Given the description of an element on the screen output the (x, y) to click on. 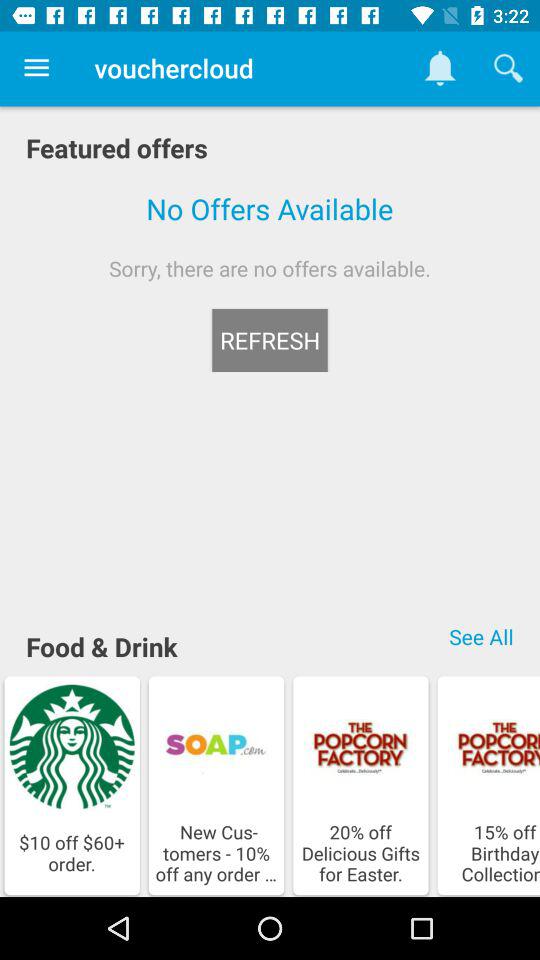
choose the see all icon (481, 636)
